Given the description of an element on the screen output the (x, y) to click on. 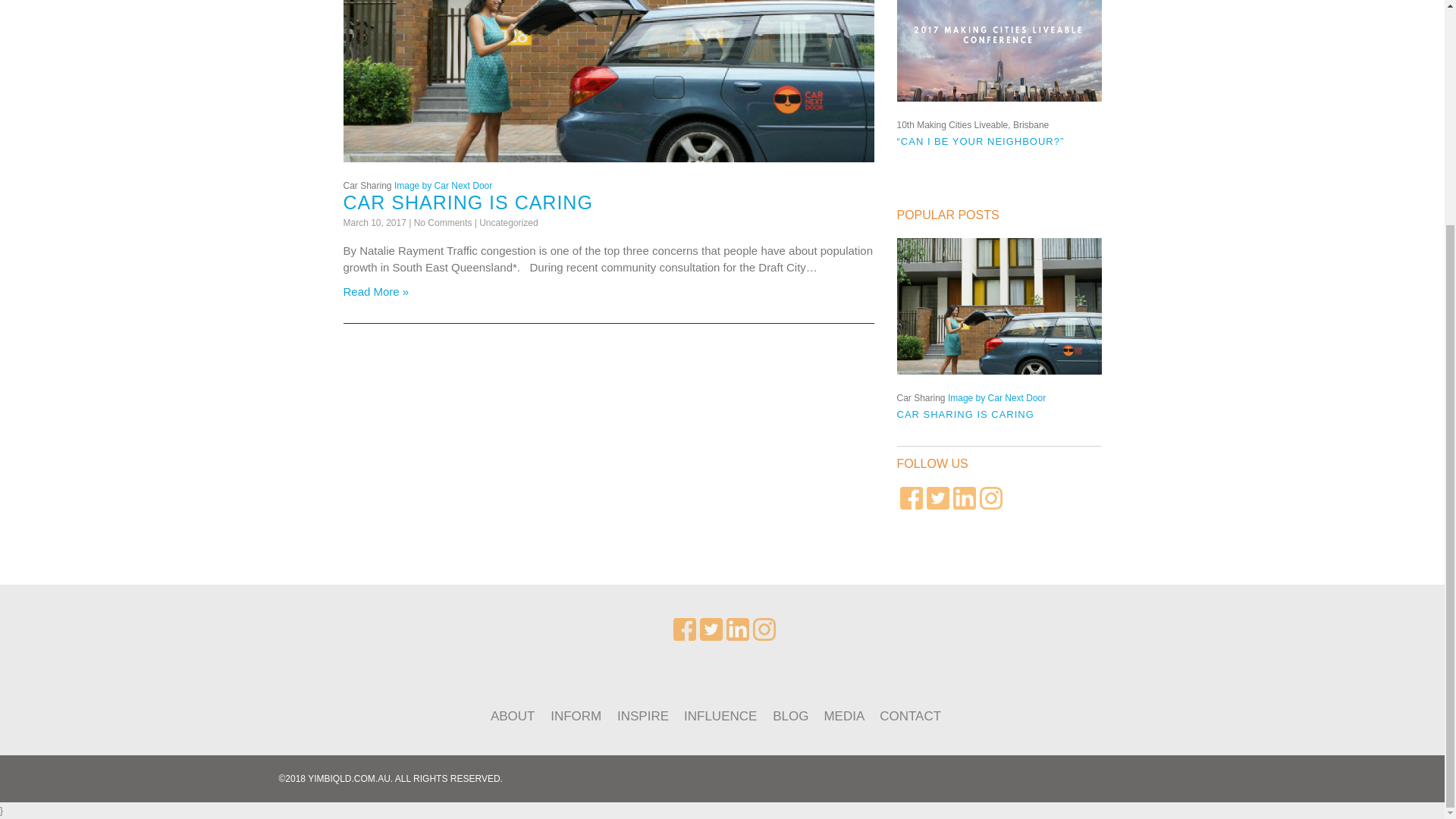
CAR SHARING IS CARING (467, 201)
No Comments (442, 222)
View all posts in Uncategorized (508, 222)
Uncategorized (508, 222)
Image by Car Next Door (443, 185)
